Given the description of an element on the screen output the (x, y) to click on. 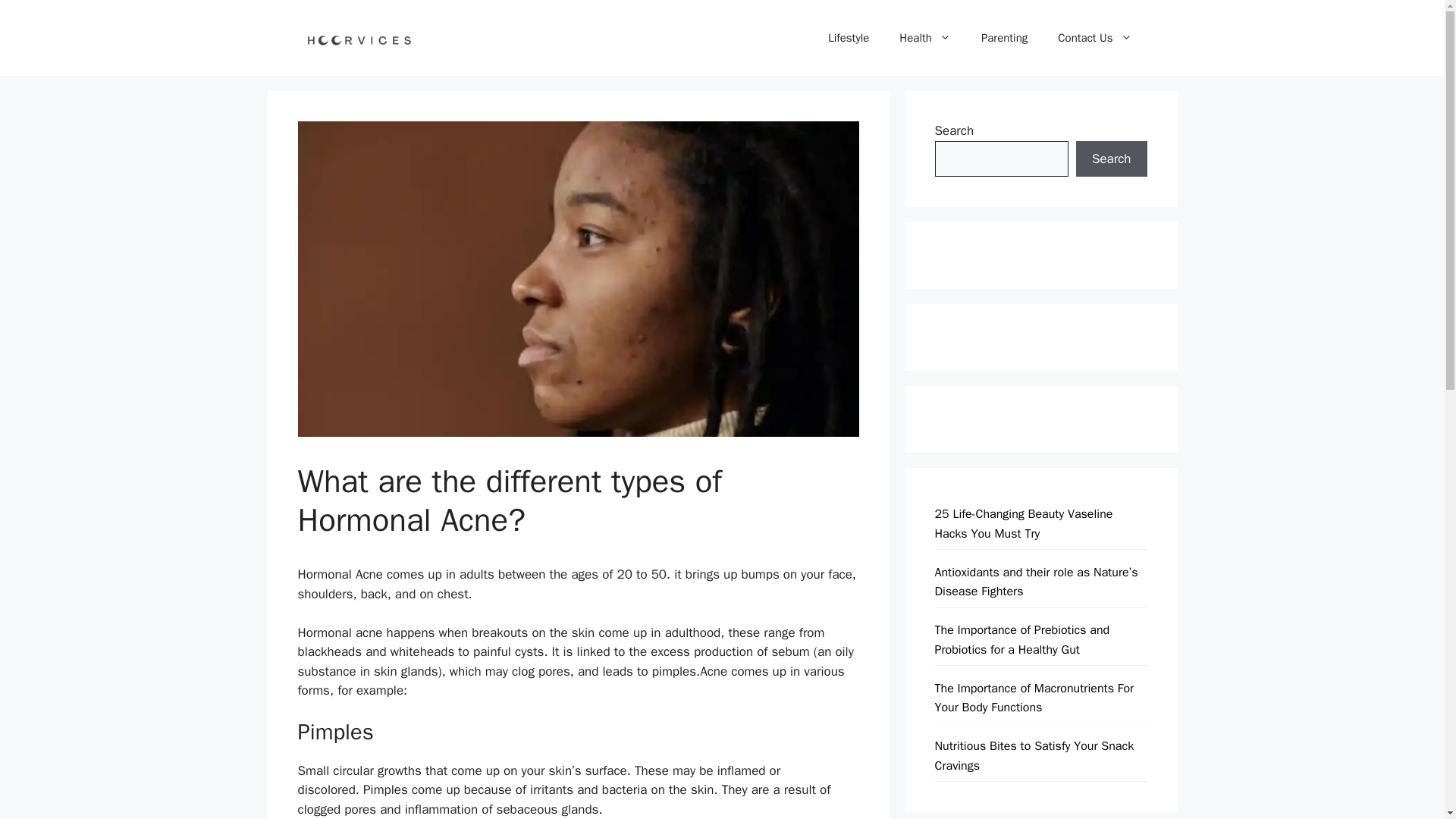
Search (1111, 158)
25 Life-Changing Beauty Vaseline Hacks You Must Try (1023, 523)
The Importance of Macronutrients For Your Body Functions (1034, 697)
Contact Us (1094, 37)
Parenting (1004, 37)
Health (924, 37)
Lifestyle (847, 37)
Nutritious Bites to Satisfy Your Snack Cravings (1034, 755)
